Given the description of an element on the screen output the (x, y) to click on. 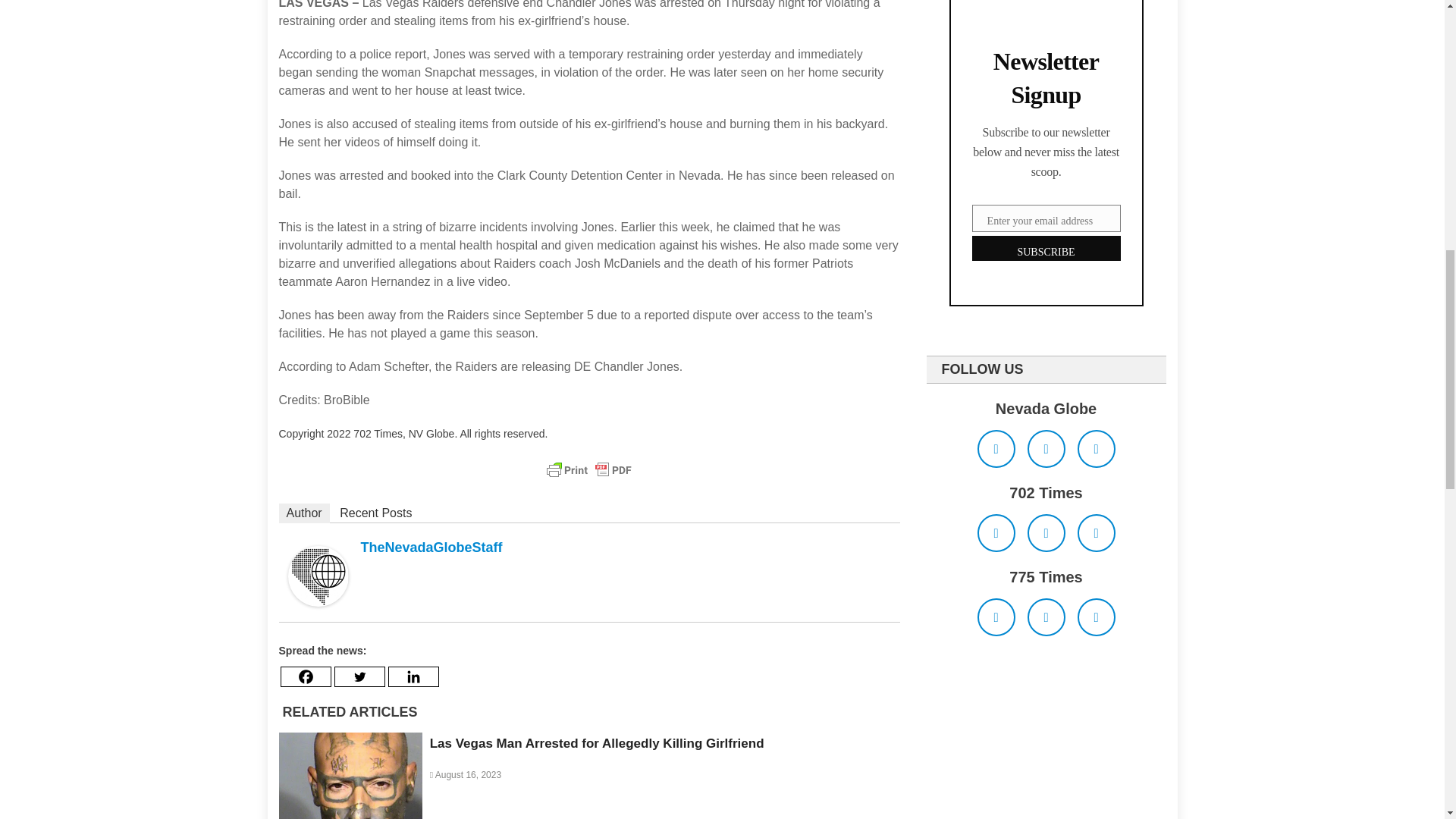
Recent Posts (375, 513)
SUBSCRIBE (1046, 248)
Linkedin (413, 676)
TheNevadaGlobeStaff (431, 547)
Author (304, 513)
Facebook (306, 676)
Las Vegas Man Arrested for Allegedly Killing Girlfriend (596, 743)
Twitter (358, 676)
TheNevadaGlobeStaff (318, 574)
